Given the description of an element on the screen output the (x, y) to click on. 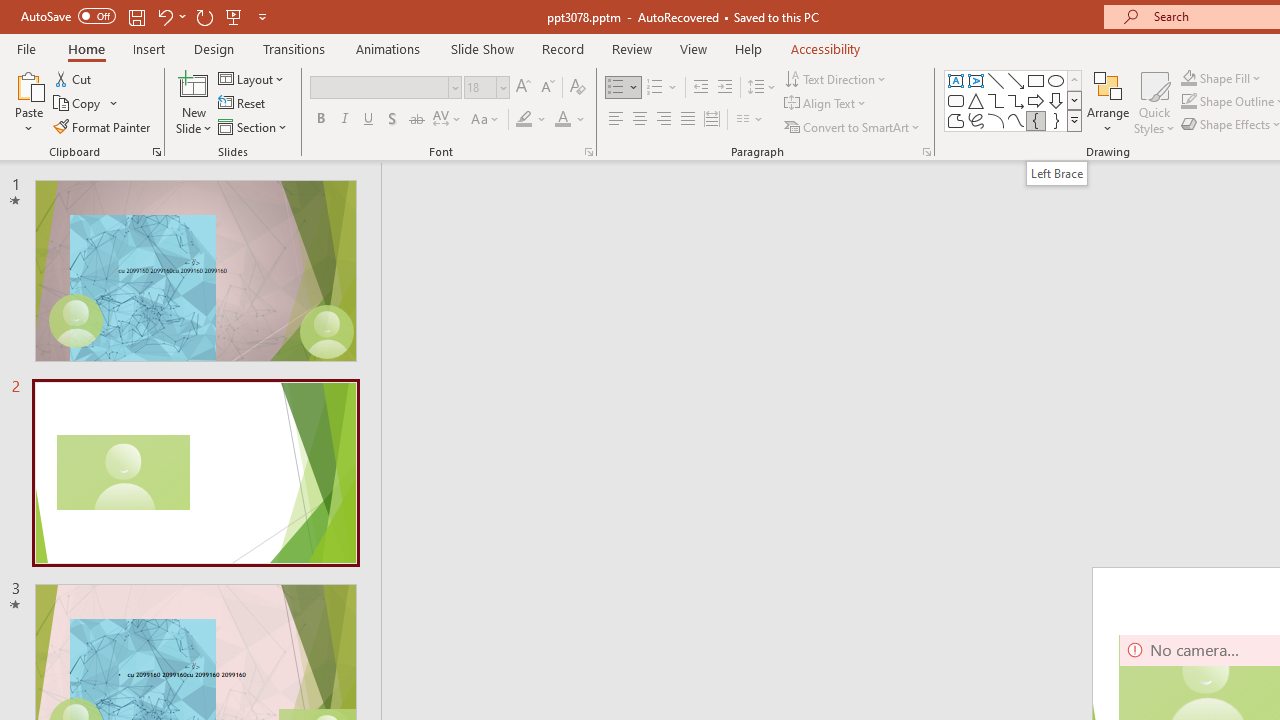
Arrow: Down (1055, 100)
Freeform: Shape (955, 120)
Class: NetUIImage (1075, 120)
Numbering (661, 87)
Numbering (654, 87)
Rectangle (1035, 80)
Bullets (616, 87)
Align Text (826, 103)
Font... (588, 151)
Font Size (486, 87)
Decrease Font Size (547, 87)
Clear Formatting (577, 87)
